Given the description of an element on the screen output the (x, y) to click on. 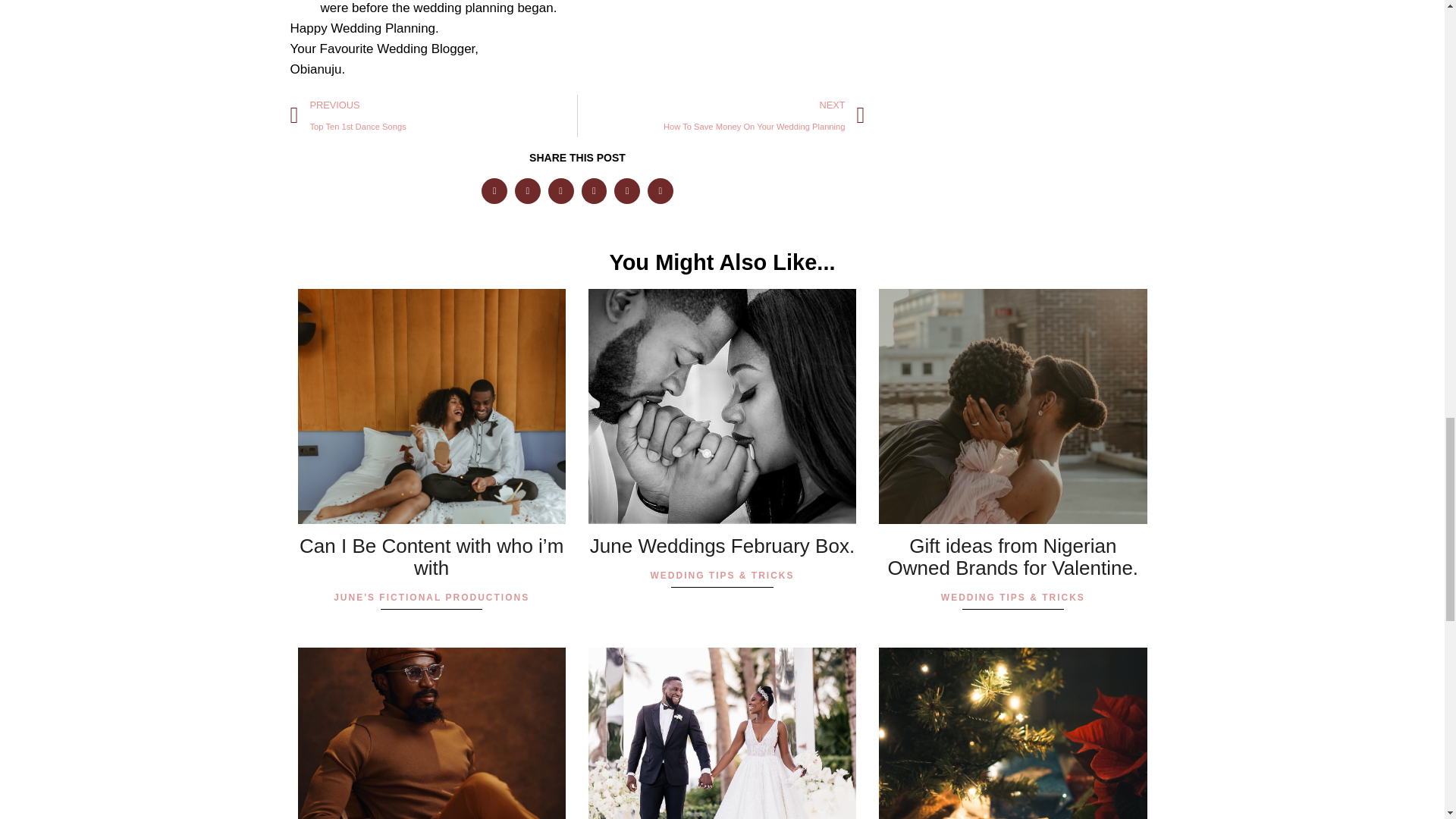
June Weddings February Box. (432, 116)
JUNE'S FICTIONAL PRODUCTIONS (721, 116)
